Given the description of an element on the screen output the (x, y) to click on. 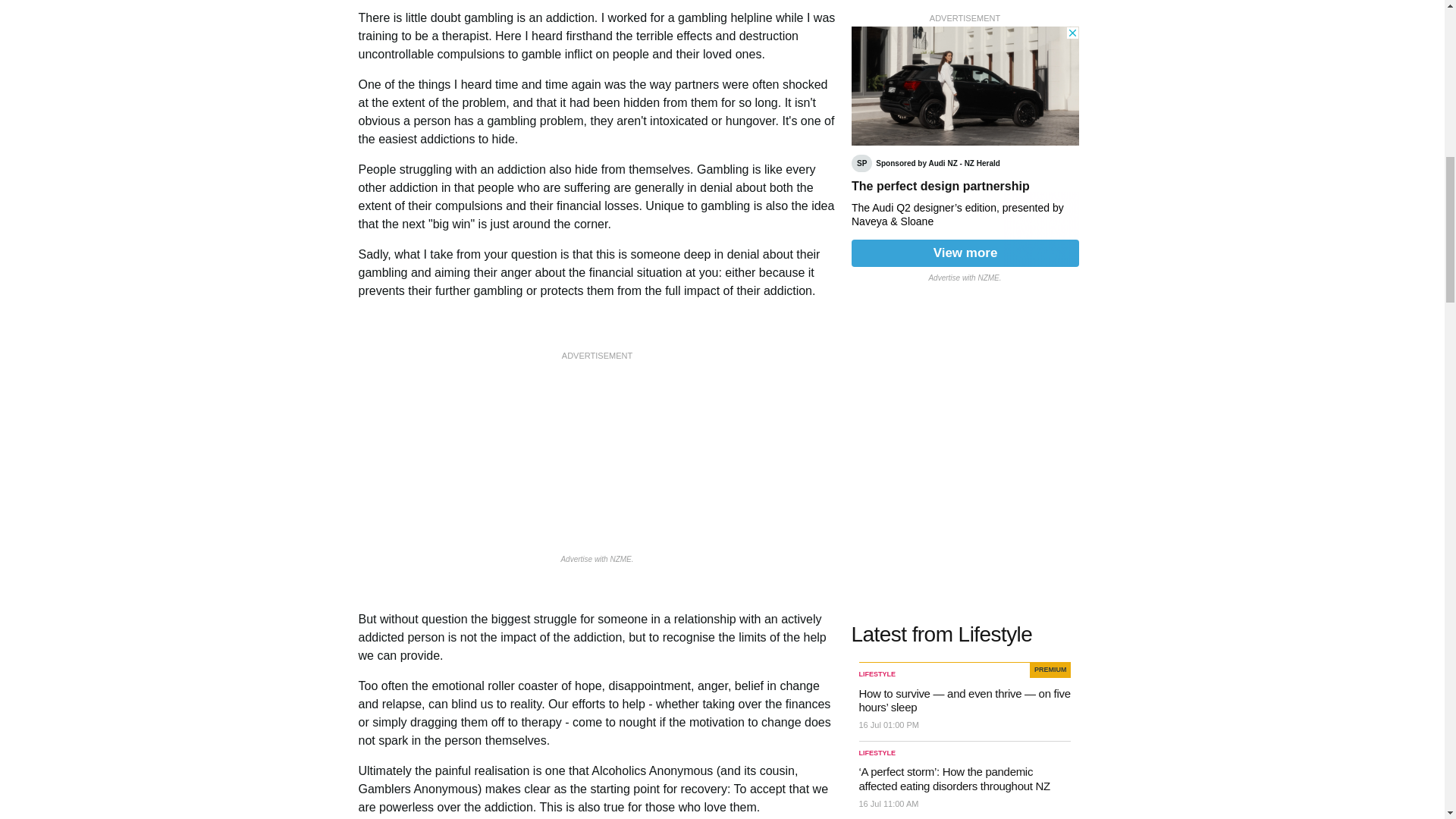
3rd party ad content (597, 458)
